Given the description of an element on the screen output the (x, y) to click on. 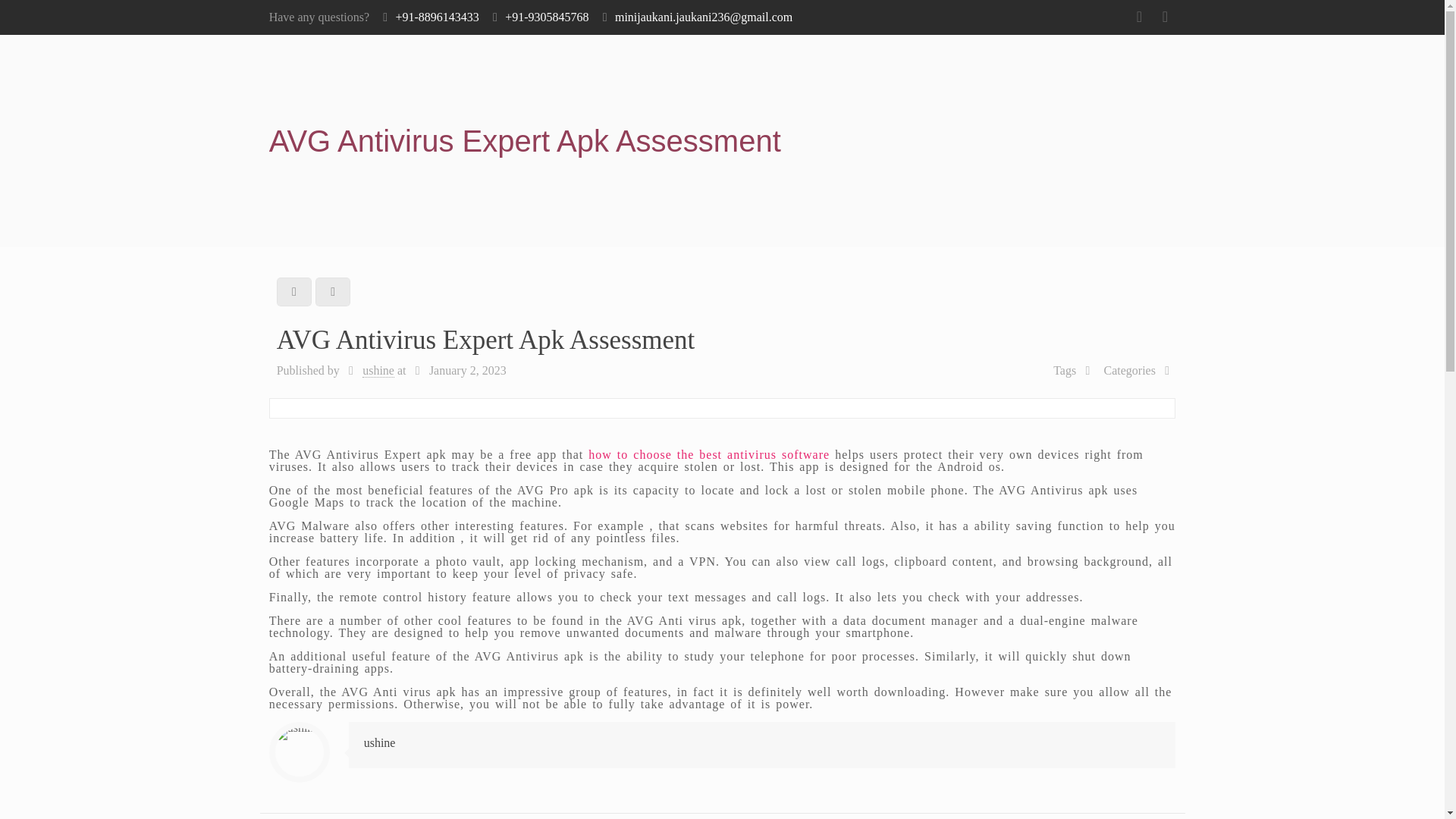
how to choose the best antivirus software (708, 454)
Instagram (1164, 18)
Facebook (1139, 18)
ushine (378, 370)
ushine (380, 742)
